Given the description of an element on the screen output the (x, y) to click on. 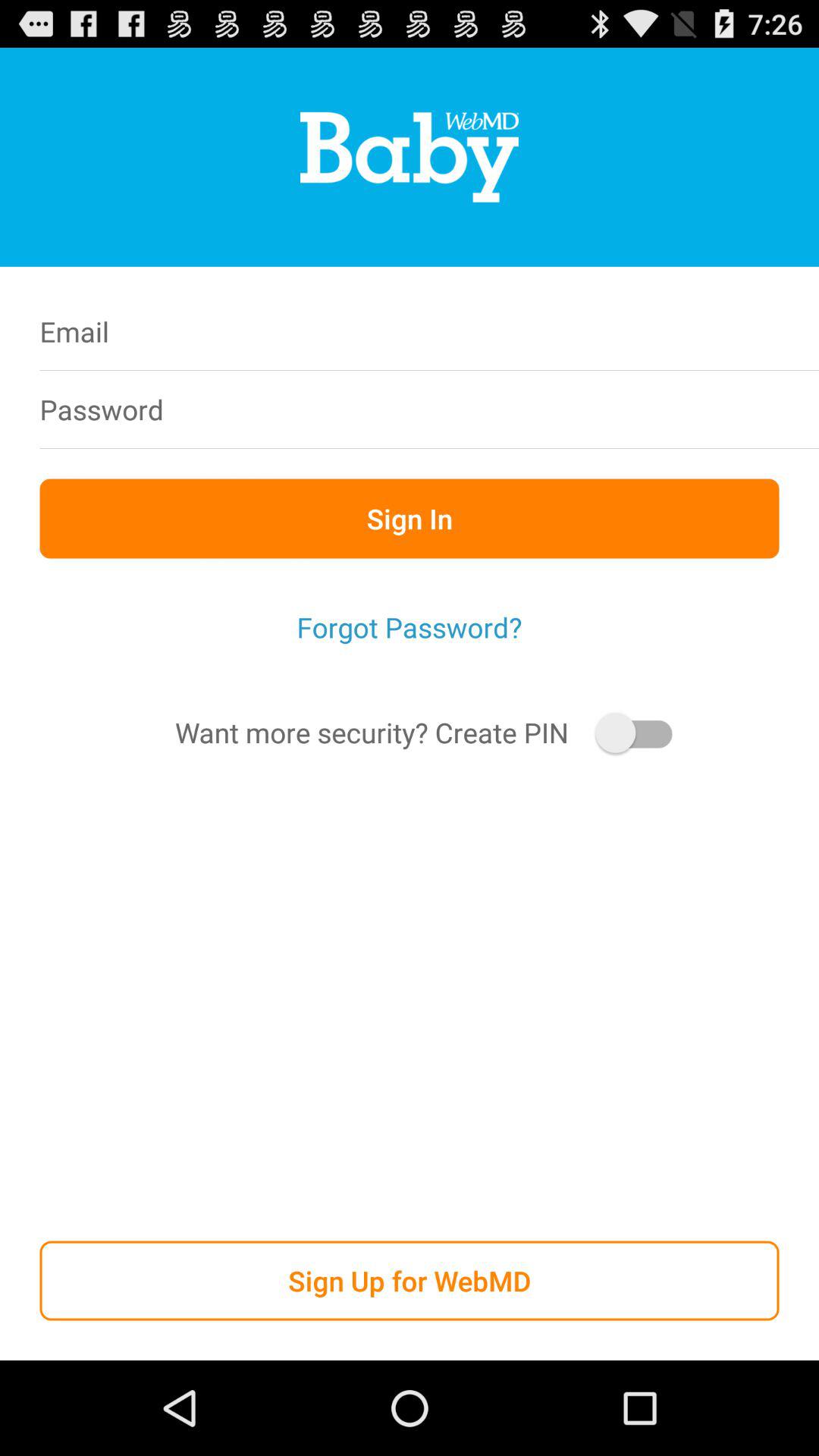
go to email (507, 331)
